Given the description of an element on the screen output the (x, y) to click on. 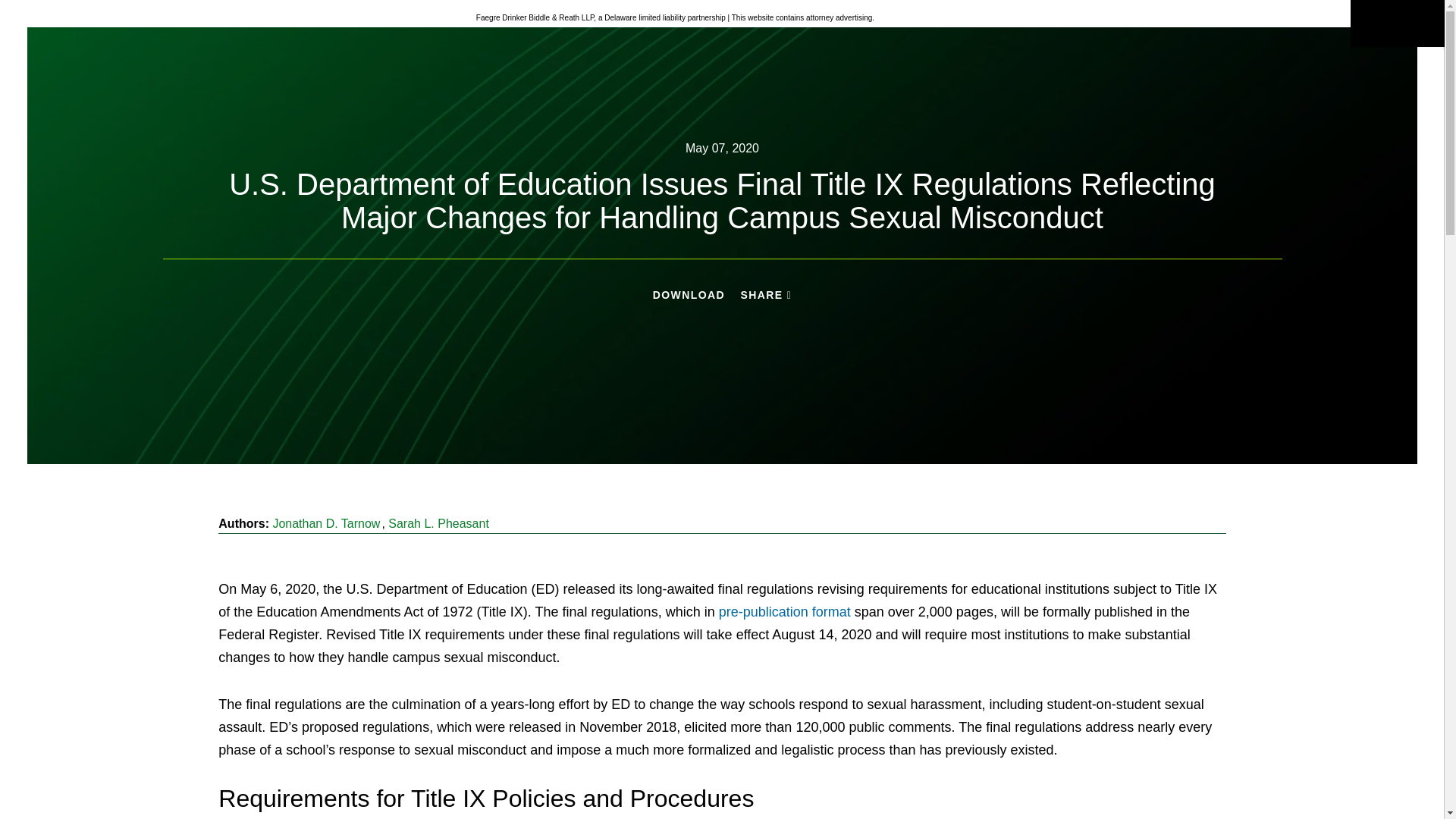
pre-publication format (784, 611)
Jonathan D. Tarnow (326, 522)
SHARE (765, 295)
DOWNLOAD (688, 295)
Sarah L. Pheasant (438, 522)
